Given the description of an element on the screen output the (x, y) to click on. 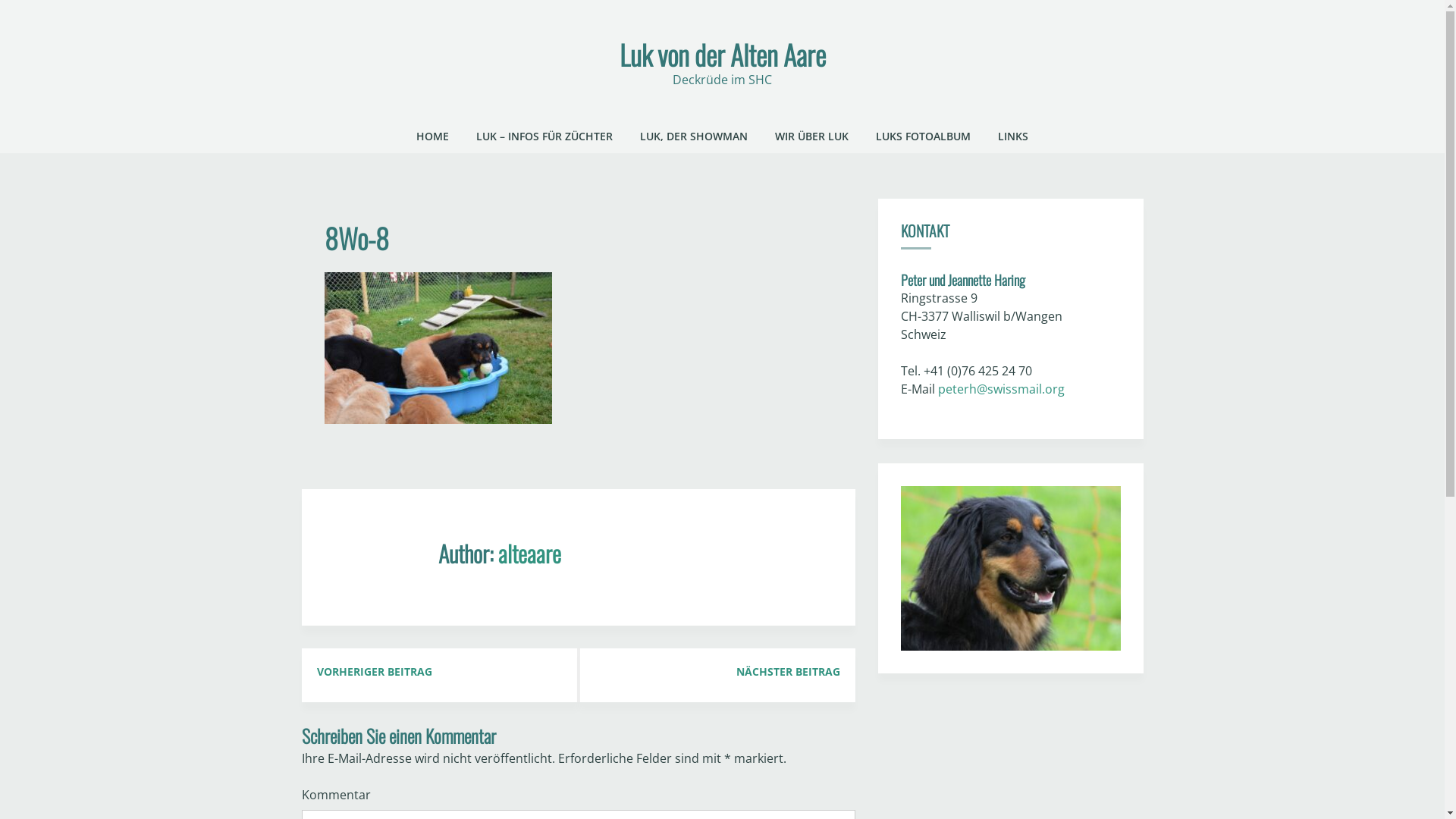
alteaare Element type: text (528, 553)
LUKS FOTOALBUM Element type: text (922, 136)
VORHERIGER BEITRAG Element type: text (438, 671)
HOME Element type: text (432, 136)
LUK, DER SHOWMAN Element type: text (693, 136)
Luk von der Alten Aare Element type: text (721, 54)
LINKS Element type: text (1012, 136)
peterh@swissmail.org Element type: text (1000, 388)
